Given the description of an element on the screen output the (x, y) to click on. 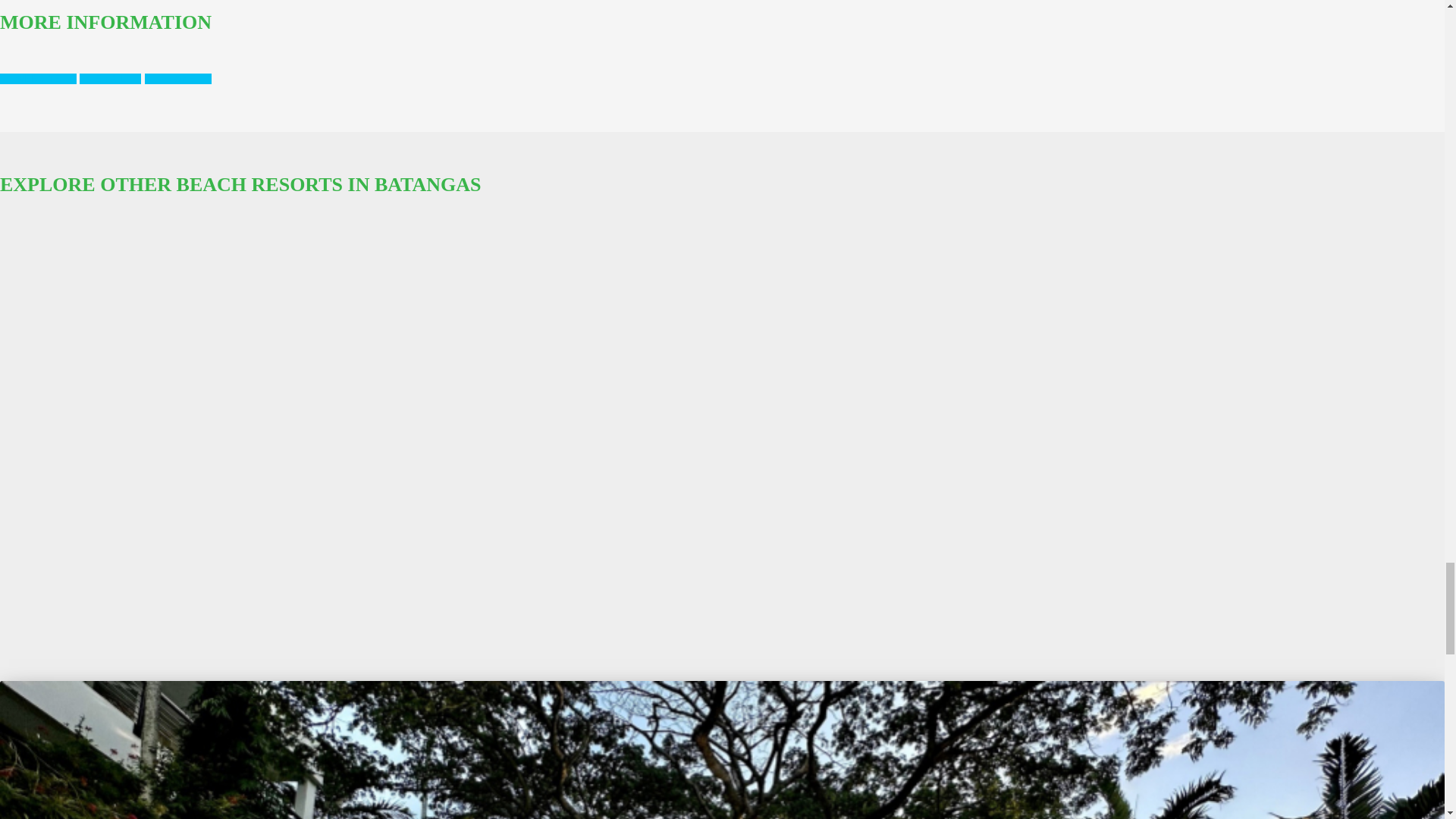
WEBSITE (38, 78)
PHONE (177, 78)
EMAIL (110, 78)
